Given the description of an element on the screen output the (x, y) to click on. 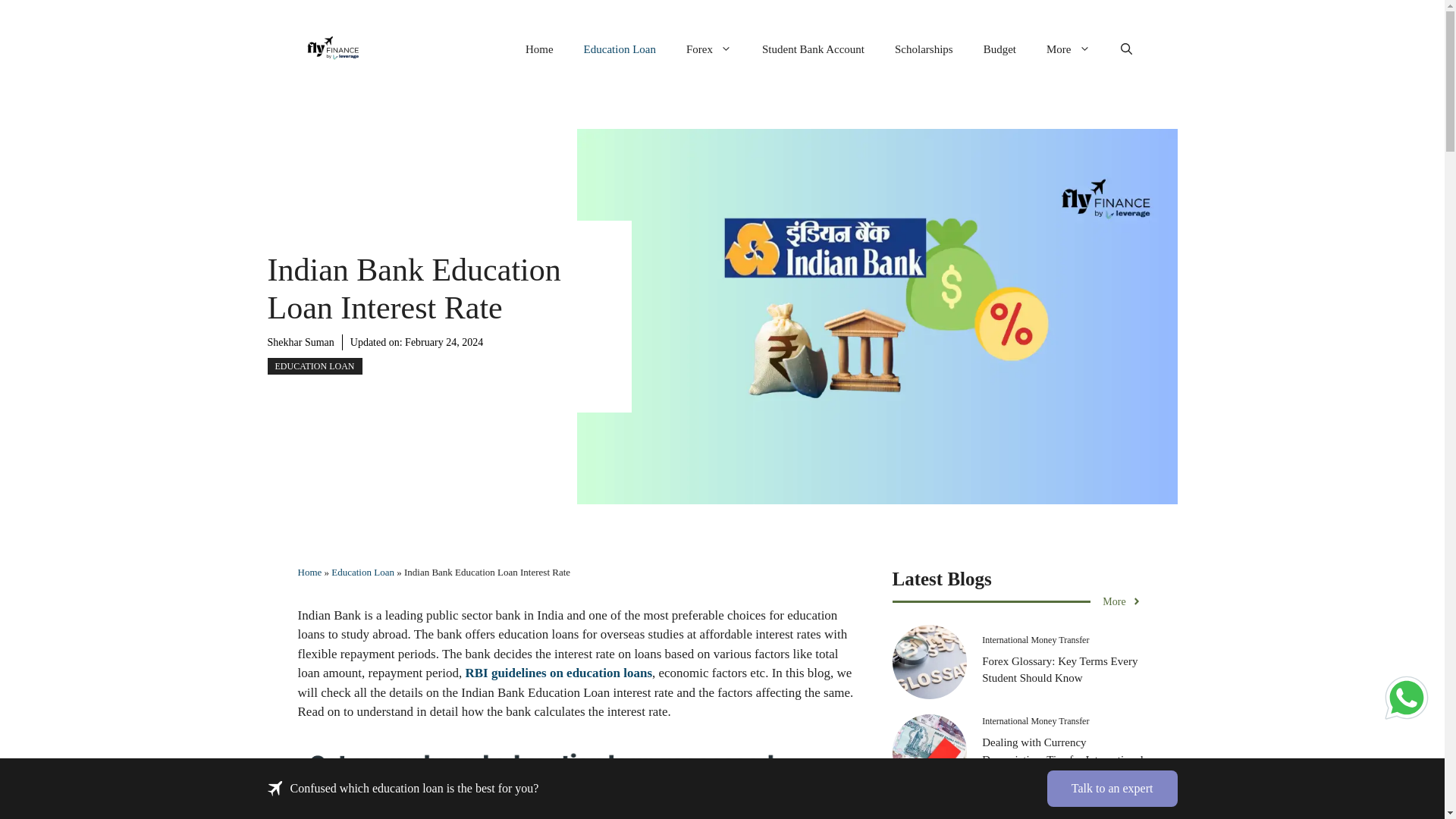
Student Bank Account (812, 49)
Shekhar Suman (299, 342)
EDUCATION LOAN (313, 365)
Education Loan (362, 572)
Home (309, 572)
Home (540, 49)
Scholarships (923, 49)
Education Loan (620, 49)
RBI guidelines on education loans (558, 672)
Budget (999, 49)
Forex (708, 49)
More (1067, 49)
